Given the description of an element on the screen output the (x, y) to click on. 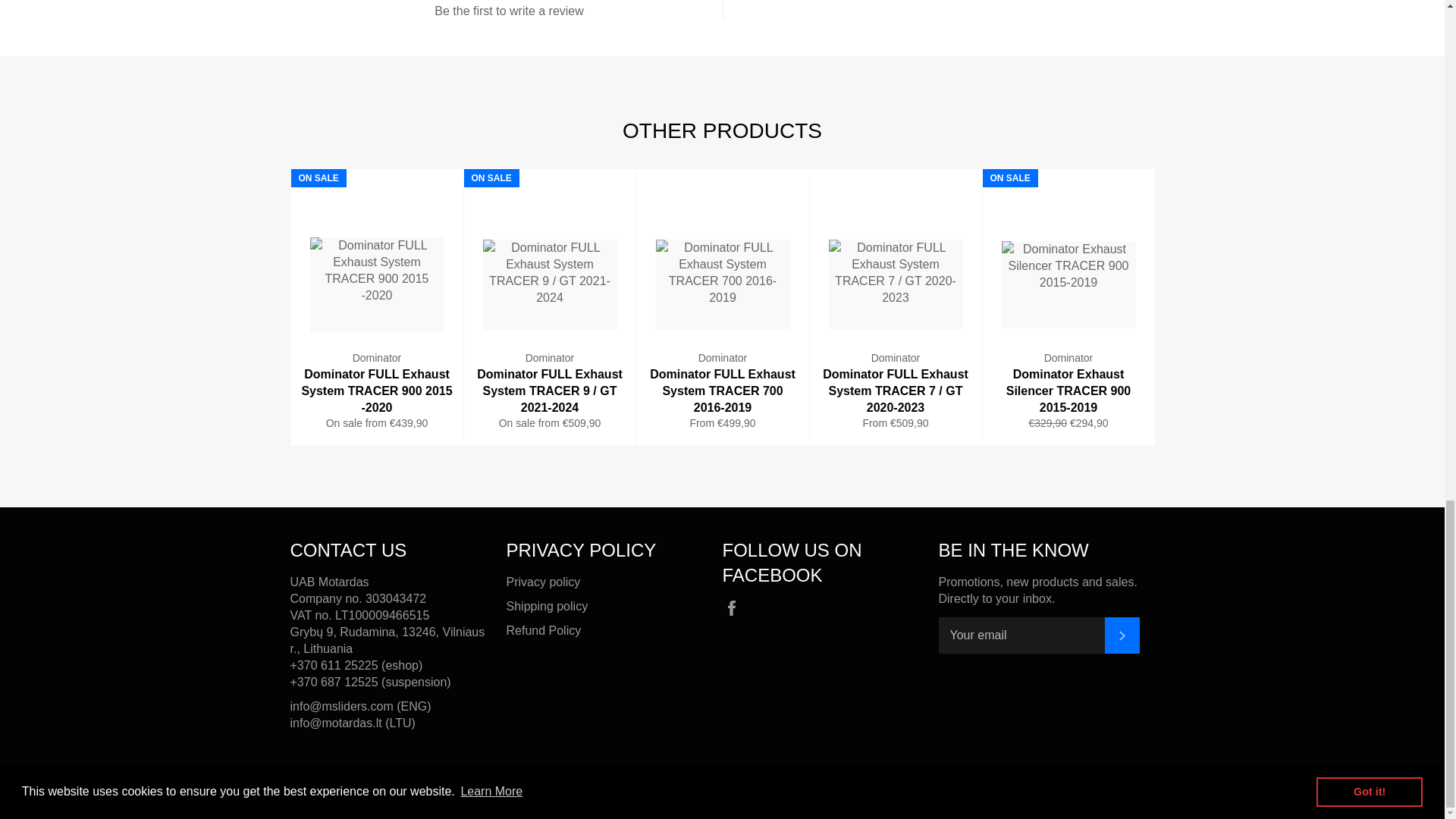
msliders on Facebook (735, 607)
